Given the description of an element on the screen output the (x, y) to click on. 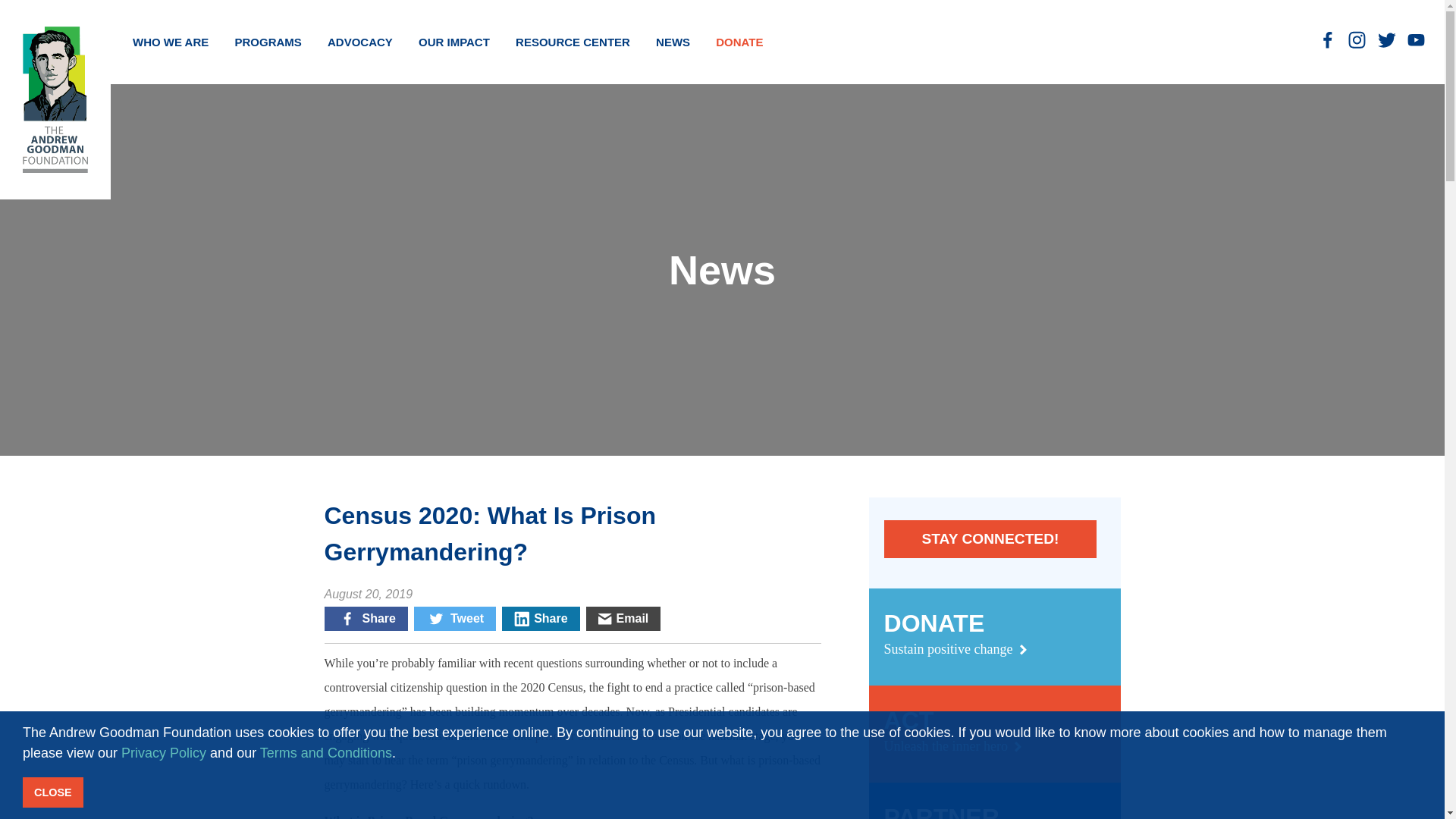
Follow us on Twitter (1386, 39)
WHO WE ARE (170, 42)
Share (365, 618)
Tweet (454, 618)
Share (540, 618)
Email (623, 618)
prisoner disenfranchisement (603, 735)
RESOURCE CENTER (572, 42)
Follow us on Facebook (1327, 39)
Follow us on Instagram (1356, 39)
